Given the description of an element on the screen output the (x, y) to click on. 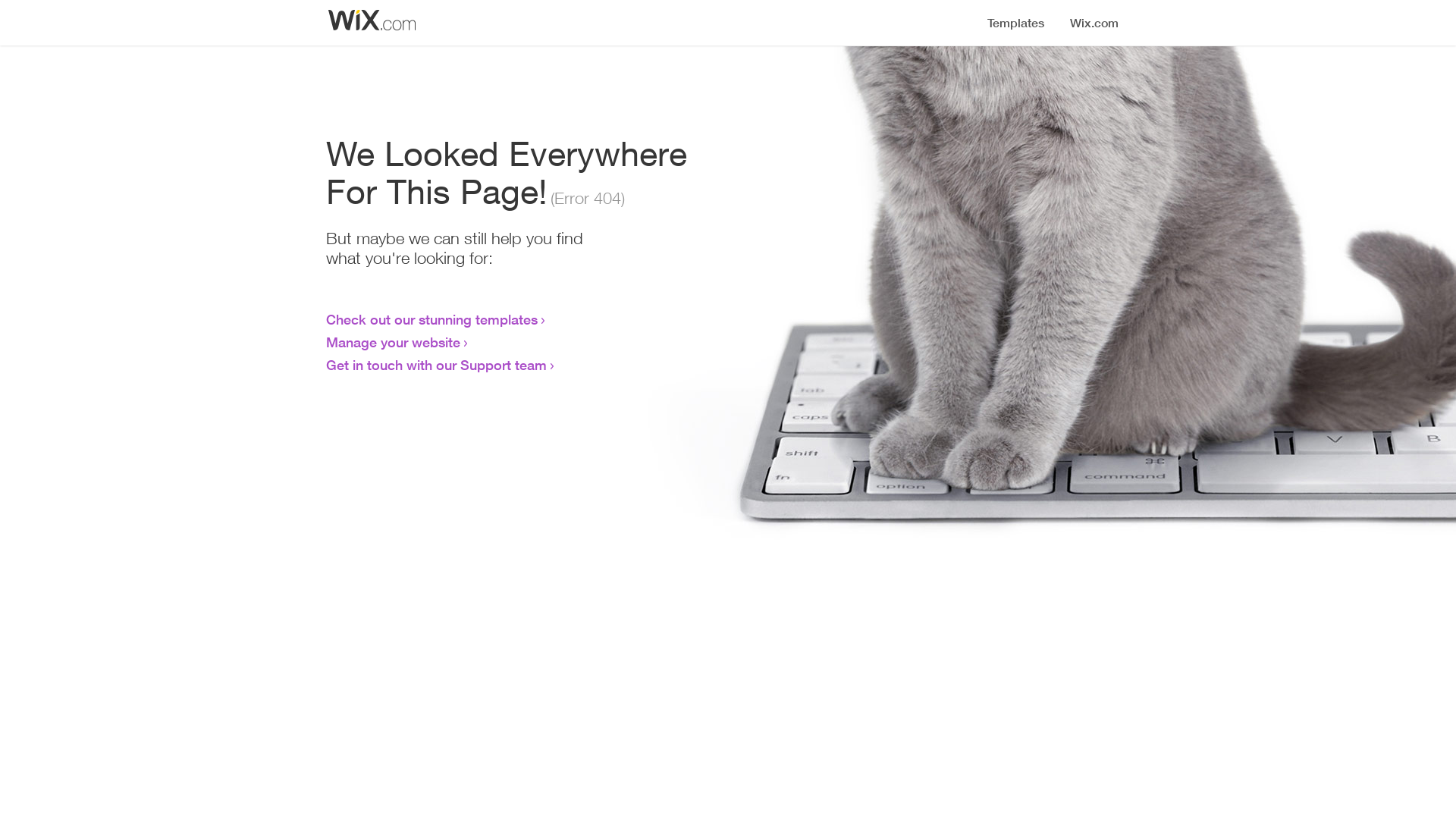
Get in touch with our Support team Element type: text (436, 364)
Check out our stunning templates Element type: text (431, 318)
Manage your website Element type: text (393, 341)
